Given the description of an element on the screen output the (x, y) to click on. 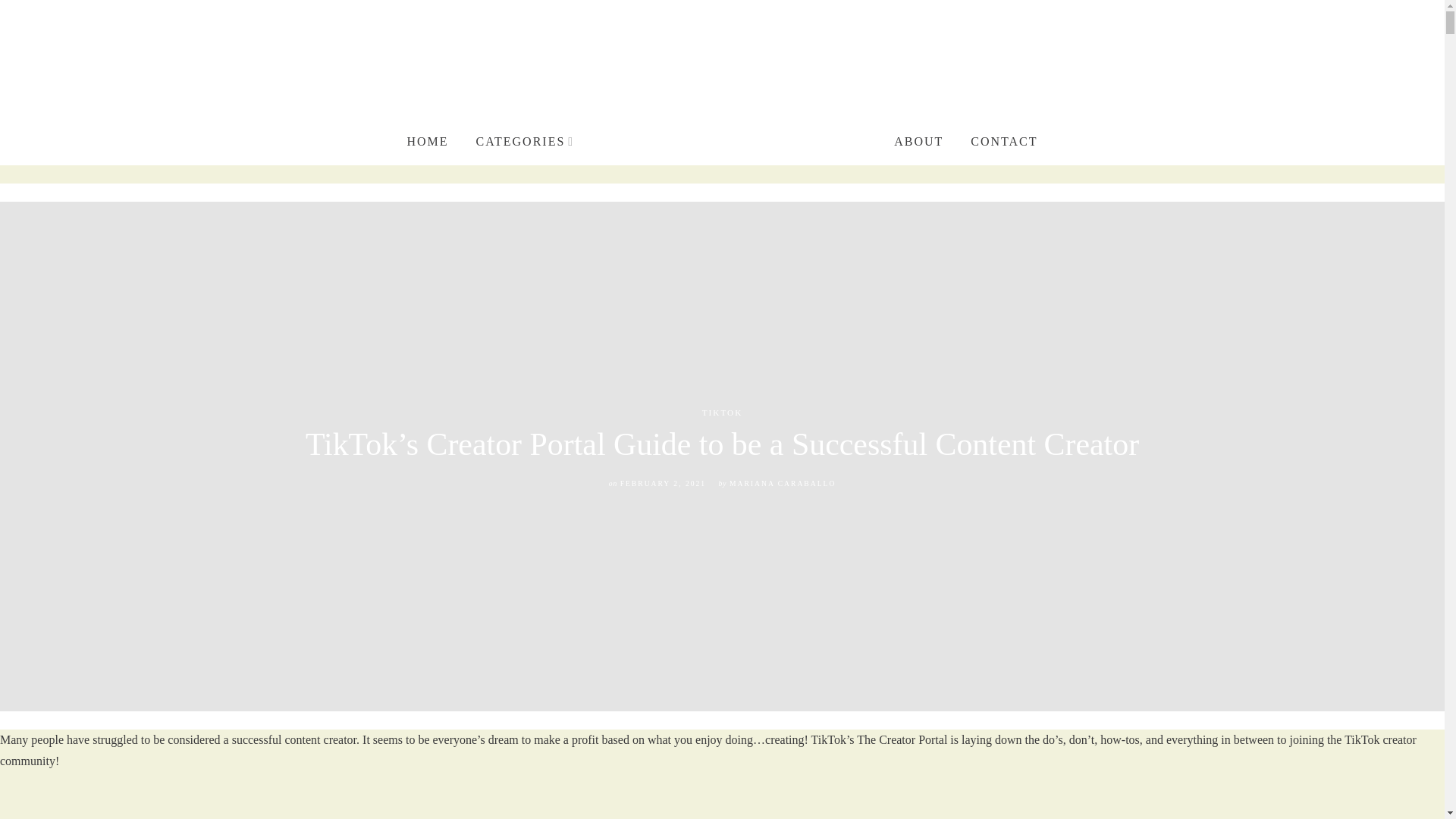
HOME (427, 141)
CATEGORIES (525, 141)
